Given the description of an element on the screen output the (x, y) to click on. 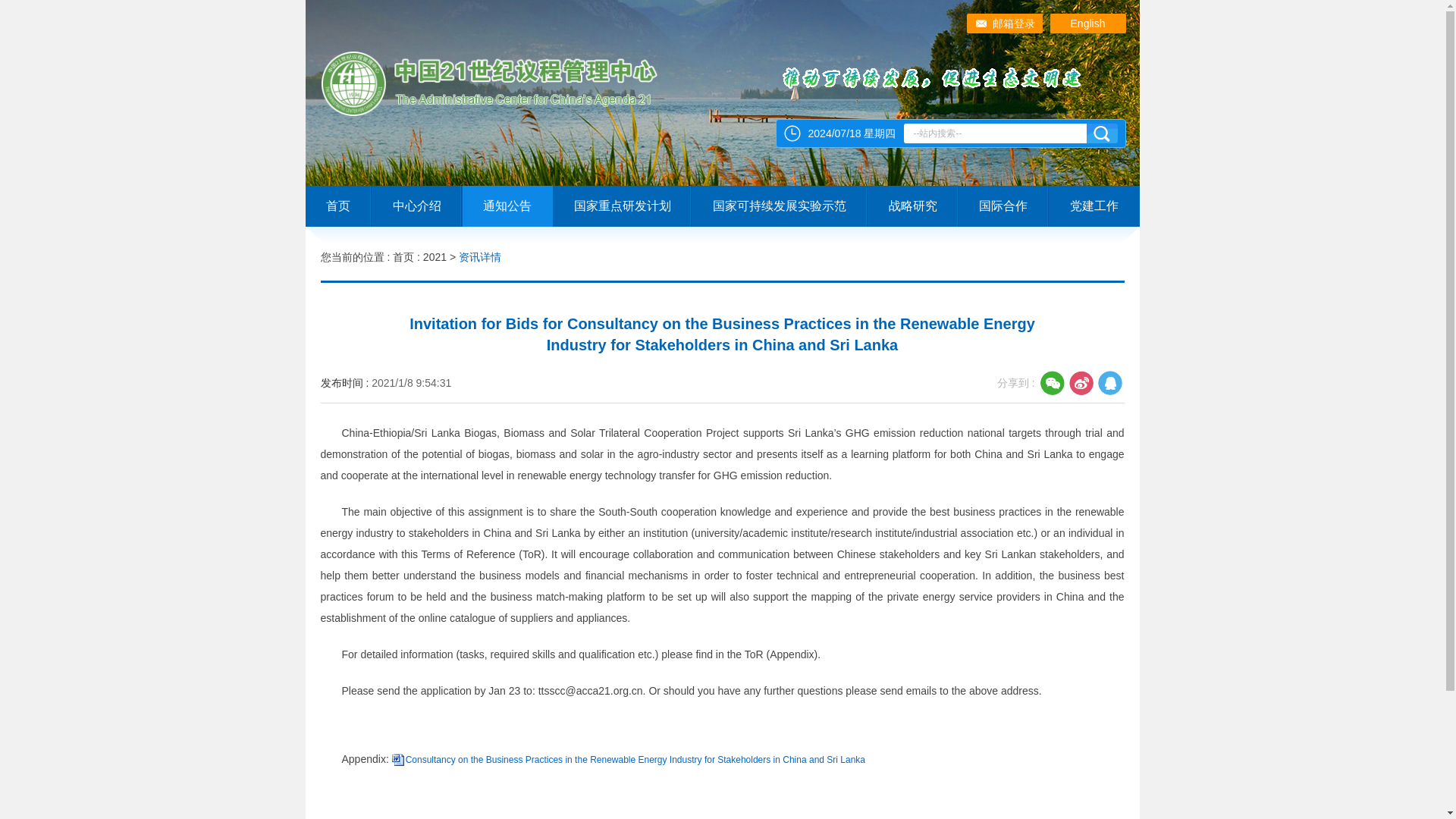
1stTOR-SriLanka0106.doc (635, 759)
English (1087, 23)
